Given the description of an element on the screen output the (x, y) to click on. 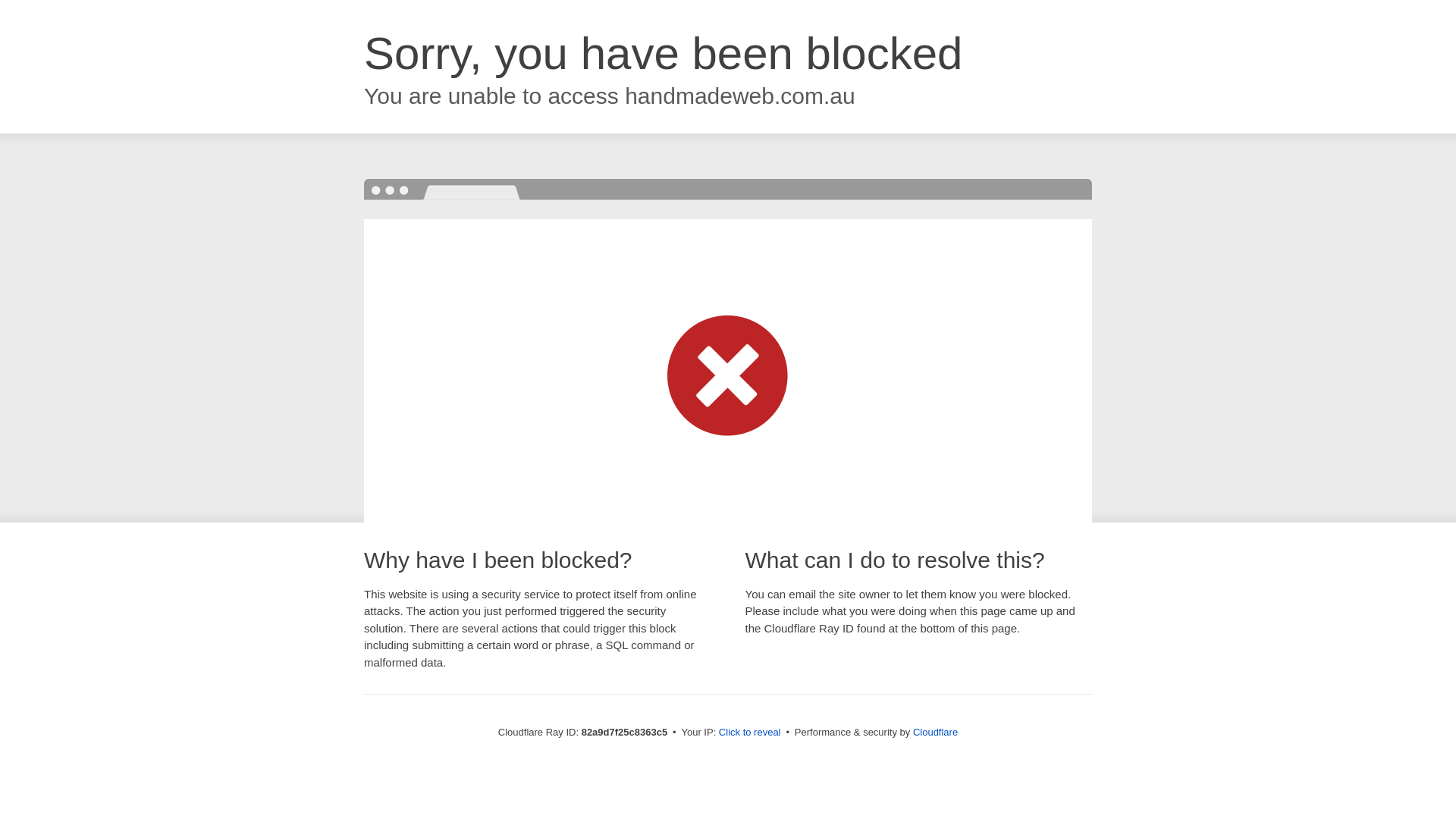
Click to reveal Element type: text (749, 732)
Cloudflare Element type: text (935, 731)
